Given the description of an element on the screen output the (x, y) to click on. 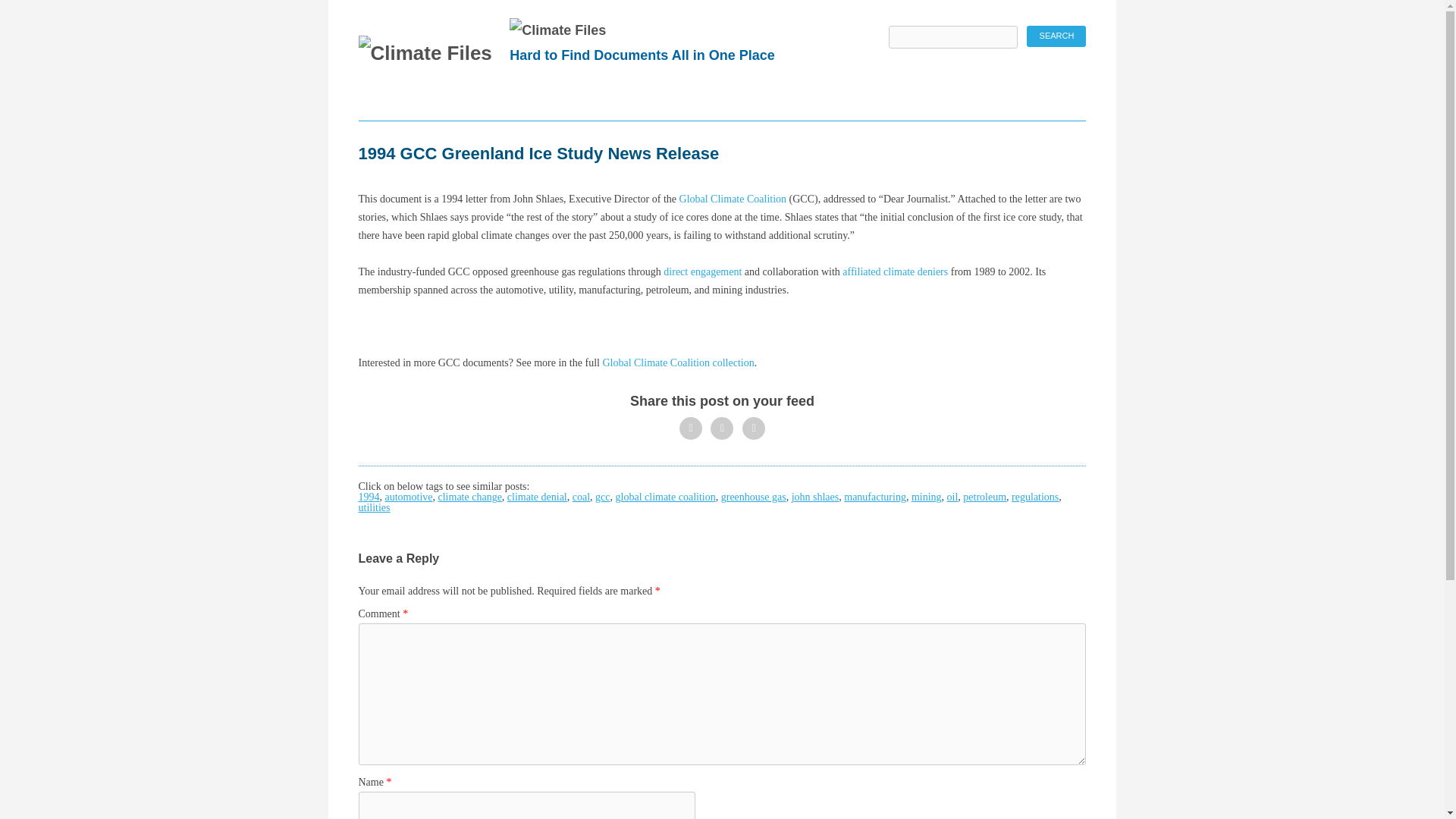
oil (952, 496)
utilities (374, 507)
automotive (408, 496)
Global Climate Coalition collection (676, 362)
COLLECTION INDEX (585, 105)
petroleum (984, 496)
manufacturing (874, 496)
Climate Files (425, 54)
climate change (470, 496)
Facebook (721, 427)
Global Climate Coalition (733, 198)
regulations (1034, 496)
climate denial (536, 496)
SEARCH (468, 105)
